Given the description of an element on the screen output the (x, y) to click on. 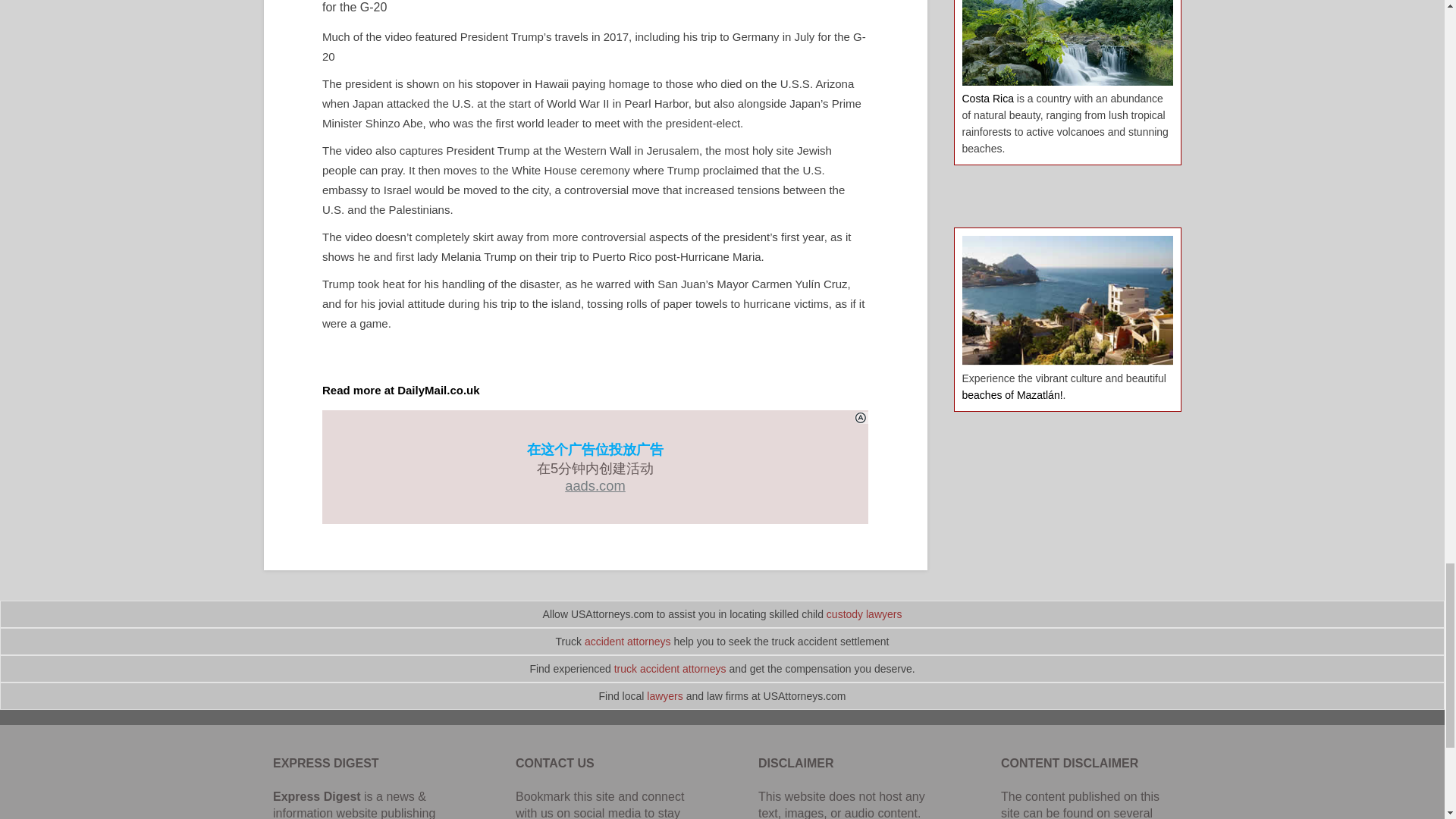
Read more at DailyMail.co.uk (400, 390)
truck accident attorneys (670, 668)
accident attorneys (628, 641)
Costa Rica (986, 98)
custody lawyers (864, 613)
lawyers (664, 695)
